Given the description of an element on the screen output the (x, y) to click on. 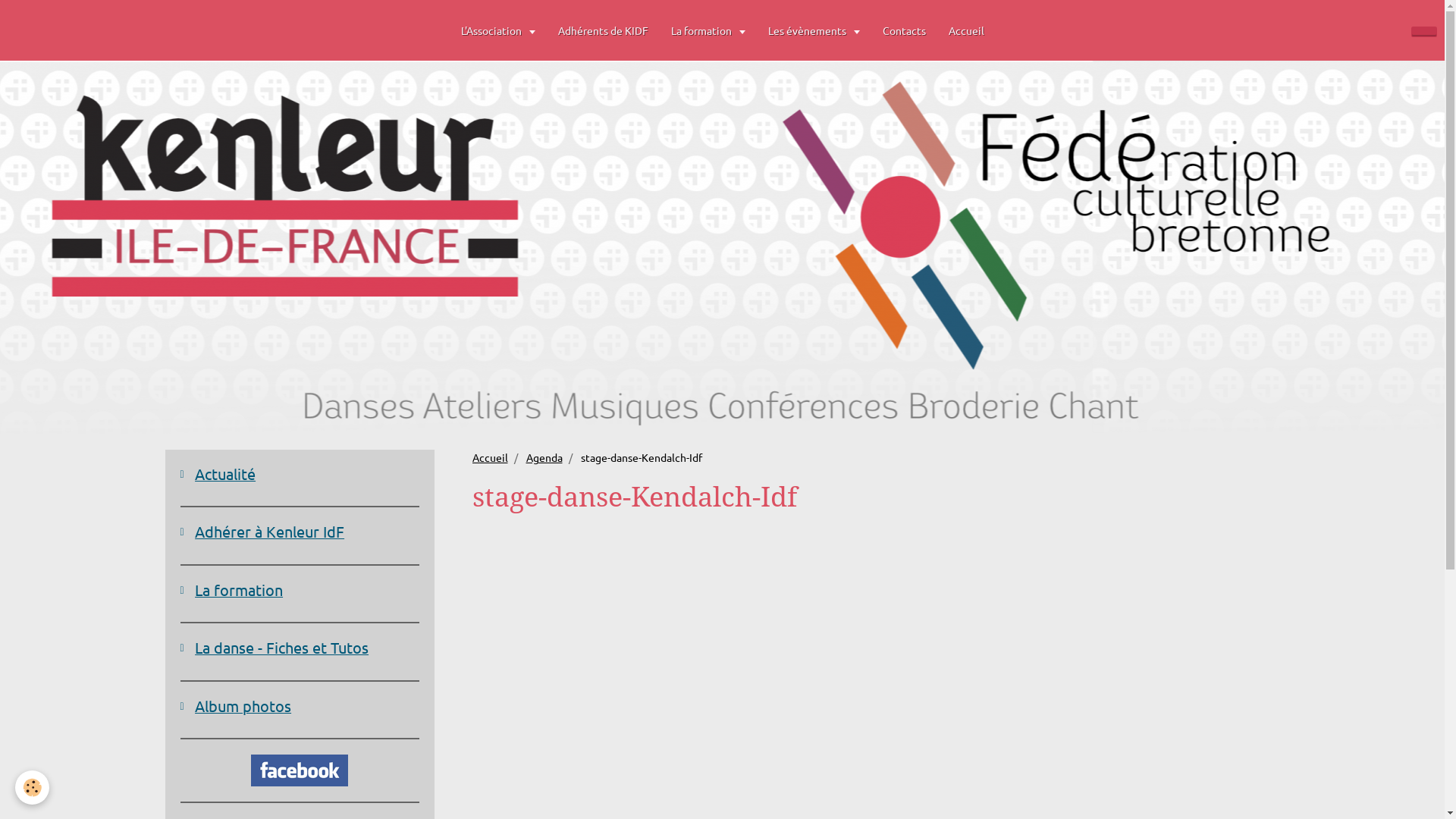
Contacts Element type: text (903, 30)
Agenda Element type: text (544, 457)
L'Association Element type: text (497, 30)
Accueil Element type: text (966, 30)
La formation Element type: text (299, 589)
La danse - Fiches et Tutos Element type: text (299, 647)
La formation Element type: text (707, 30)
Album photos Element type: text (299, 705)
Accueil Element type: text (489, 457)
